Given the description of an element on the screen output the (x, y) to click on. 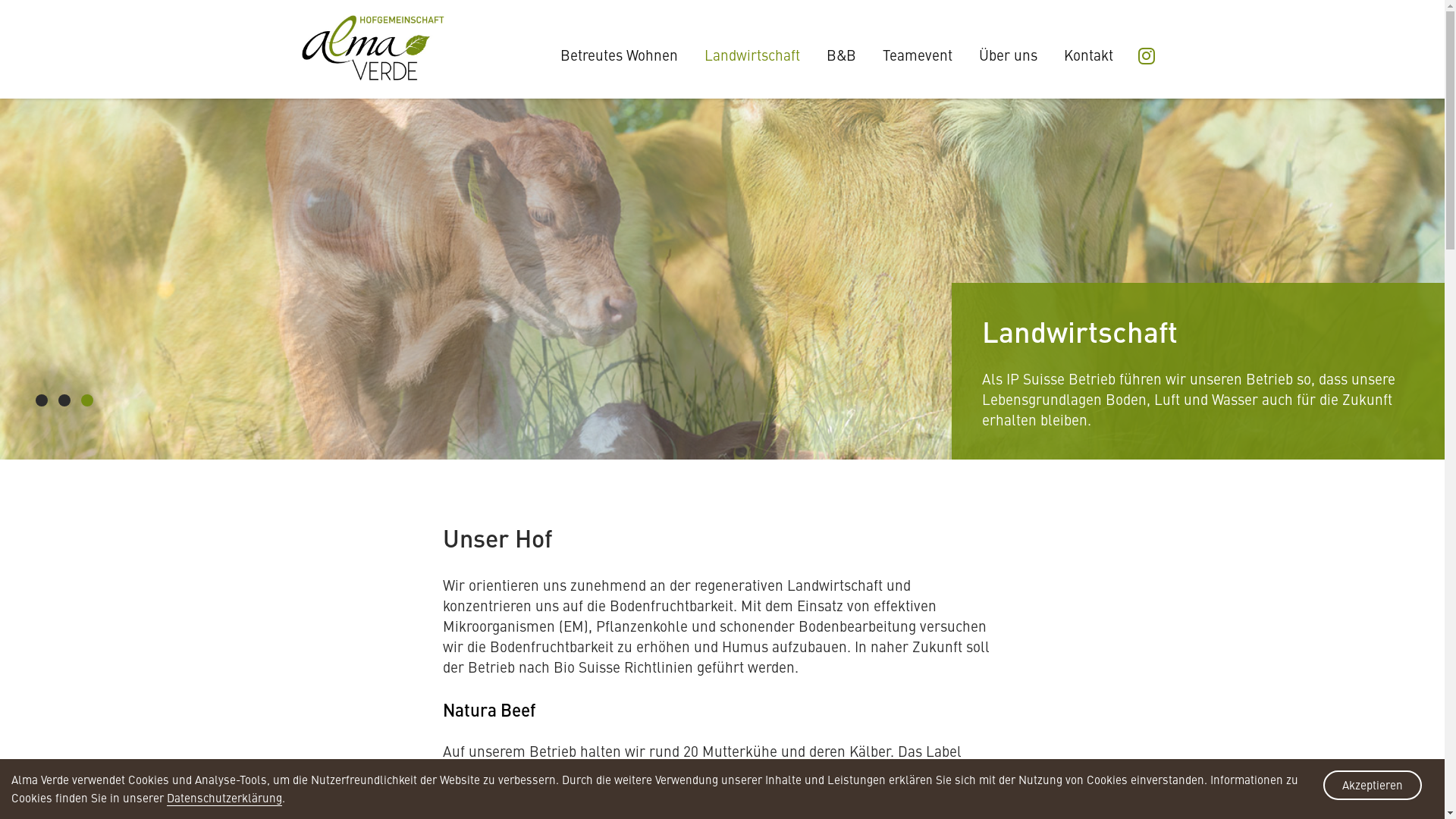
1 Element type: text (41, 400)
Kontakt Element type: text (1087, 54)
B&B Element type: text (841, 54)
2 Element type: text (64, 400)
Landwirtschaft Element type: text (751, 54)
Akzeptieren Element type: text (1372, 785)
Betreutes Wohnen Element type: text (618, 54)
Teamevent Element type: text (917, 54)
3 Element type: text (87, 400)
